Given the description of an element on the screen output the (x, y) to click on. 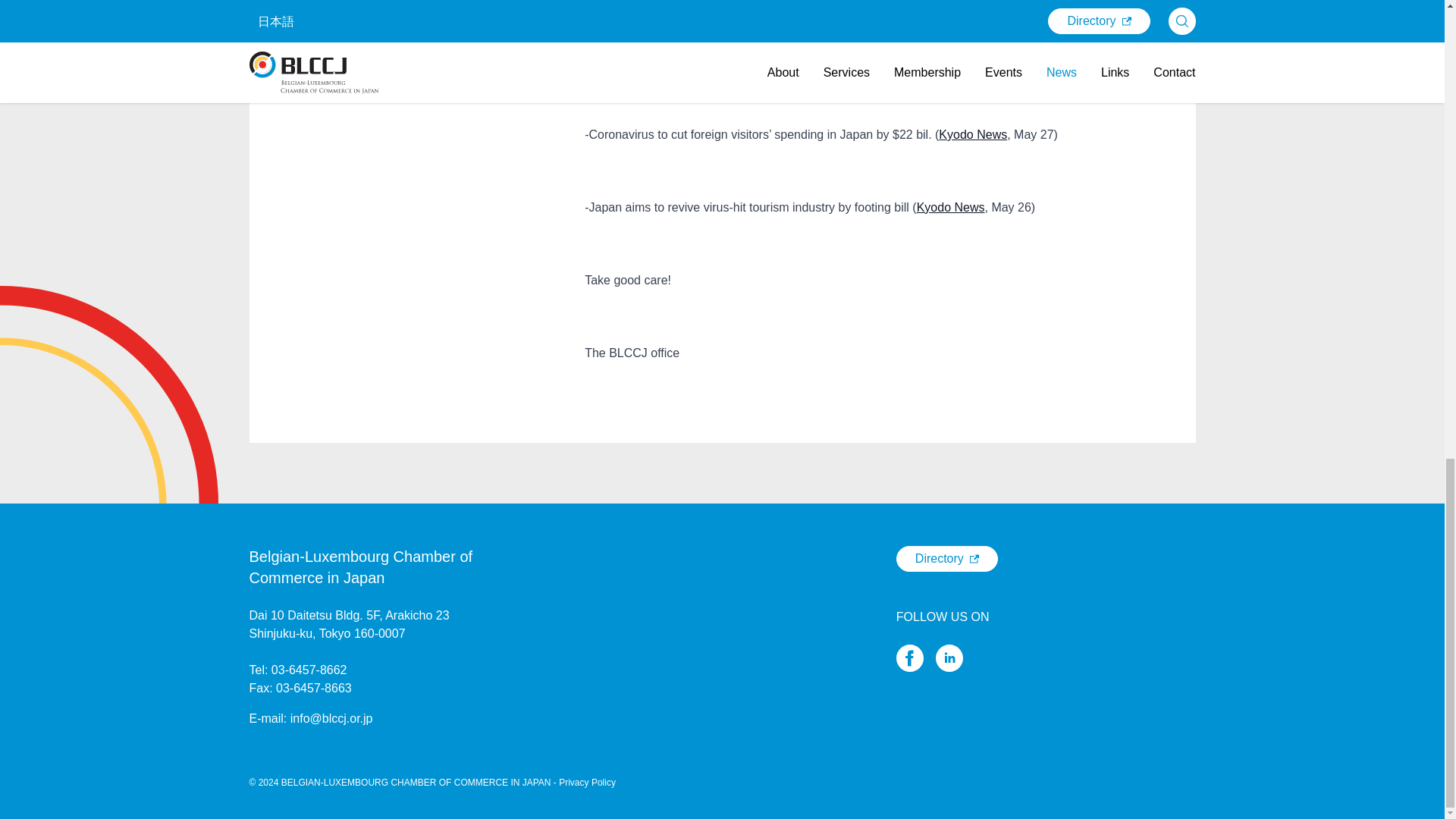
Privacy Policy (587, 782)
Kyodo News (973, 133)
Kyodo News (951, 206)
Directory (946, 558)
Kyodo News (982, 61)
